Given the description of an element on the screen output the (x, y) to click on. 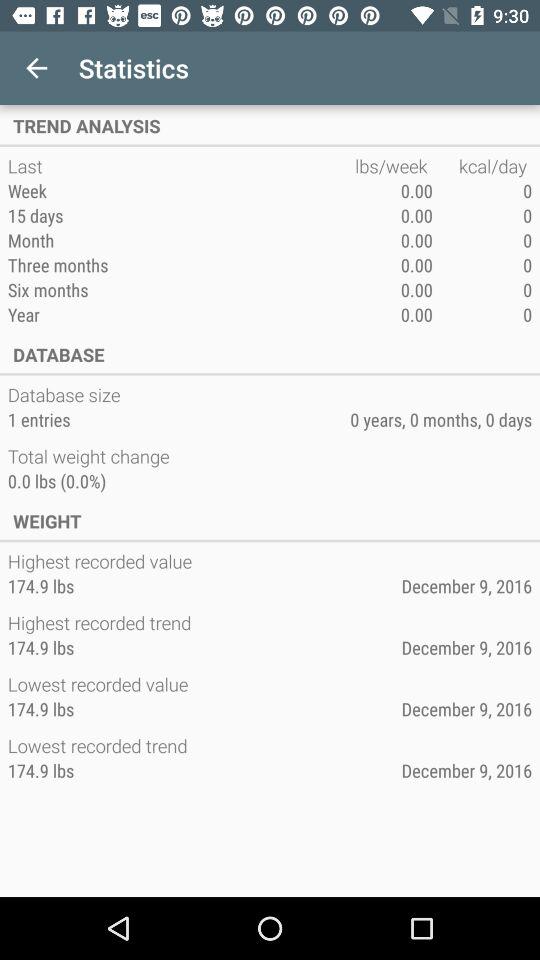
tap the icon to the left of the kcal/day item (393, 165)
